Given the description of an element on the screen output the (x, y) to click on. 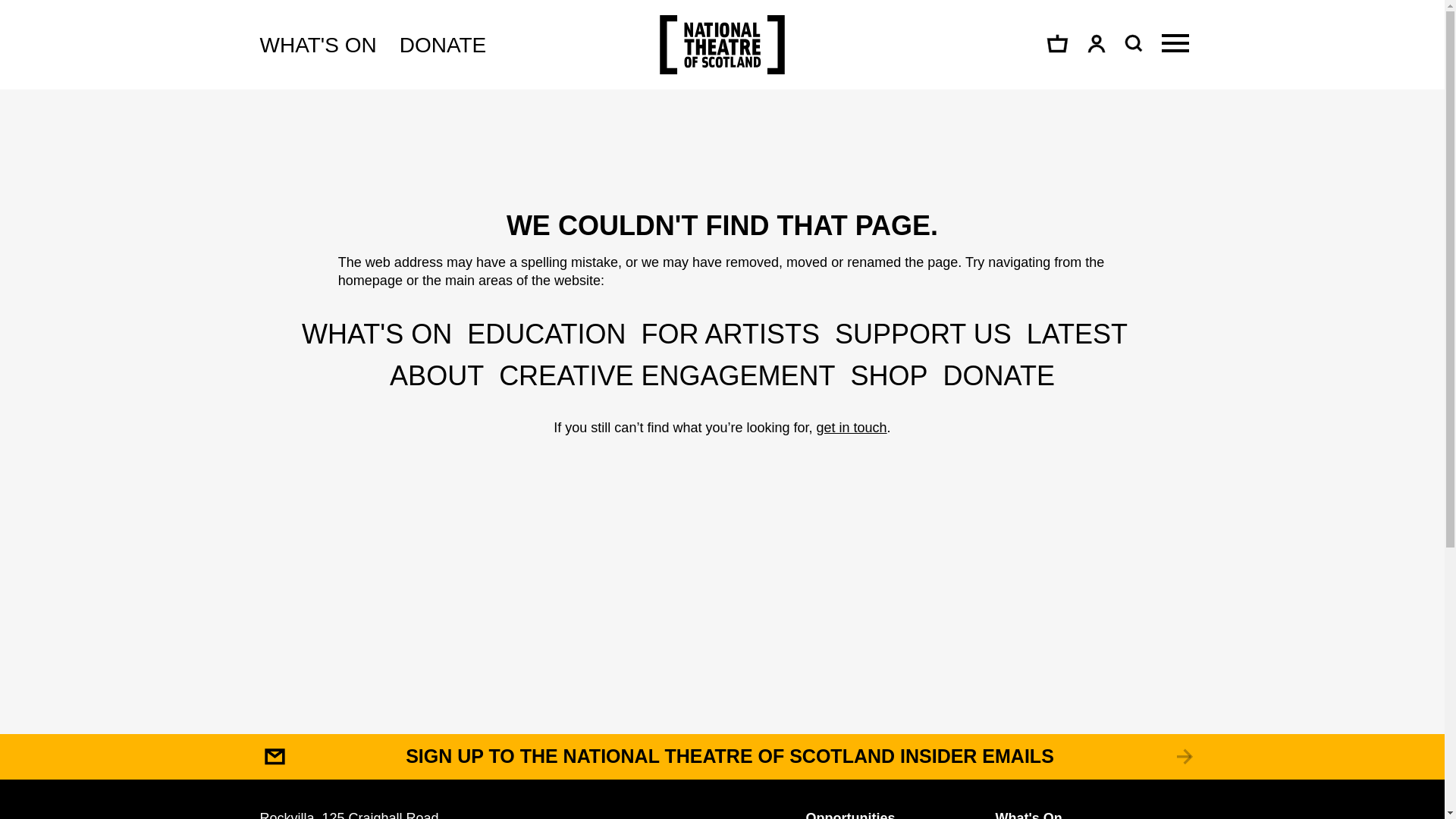
SUPPORT US (922, 334)
SEARCH (1131, 43)
DONATE (442, 45)
SHOP (889, 375)
WHAT'S ON (376, 334)
ABOUT (436, 375)
CREATIVE ENGAGEMENT (666, 375)
EDUCATION (546, 334)
WHAT'S ON (317, 45)
LATEST (1076, 334)
get in touch (851, 427)
DONATE (998, 375)
FOR ARTISTS (730, 334)
SIGN UP TO THE NATIONAL THEATRE OF SCOTLAND INSIDER EMAILS (721, 756)
NATIONAL THEATRE OF SCOTLAND (721, 44)
